Given the description of an element on the screen output the (x, y) to click on. 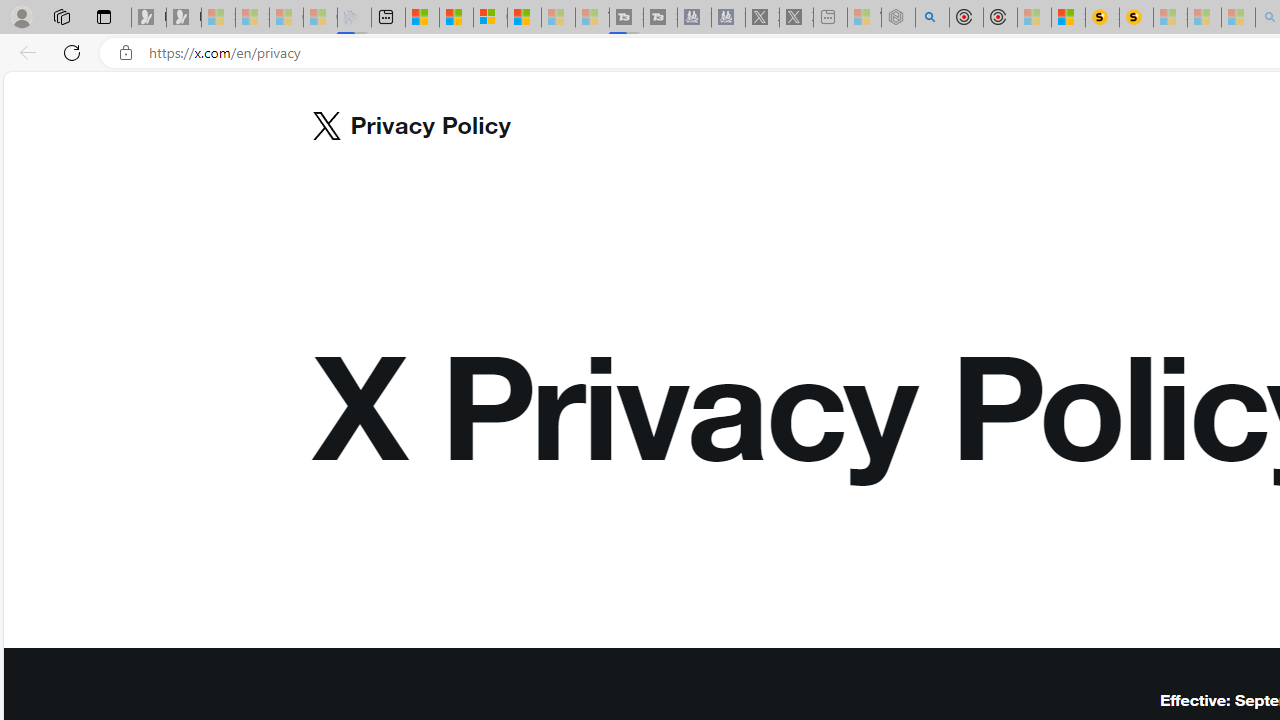
Microsoft Start - Sleeping (557, 17)
Newsletter Sign Up - Sleeping (183, 17)
Overview (489, 17)
Wildlife - MSN - Sleeping (863, 17)
X - Sleeping (795, 17)
